Given the description of an element on the screen output the (x, y) to click on. 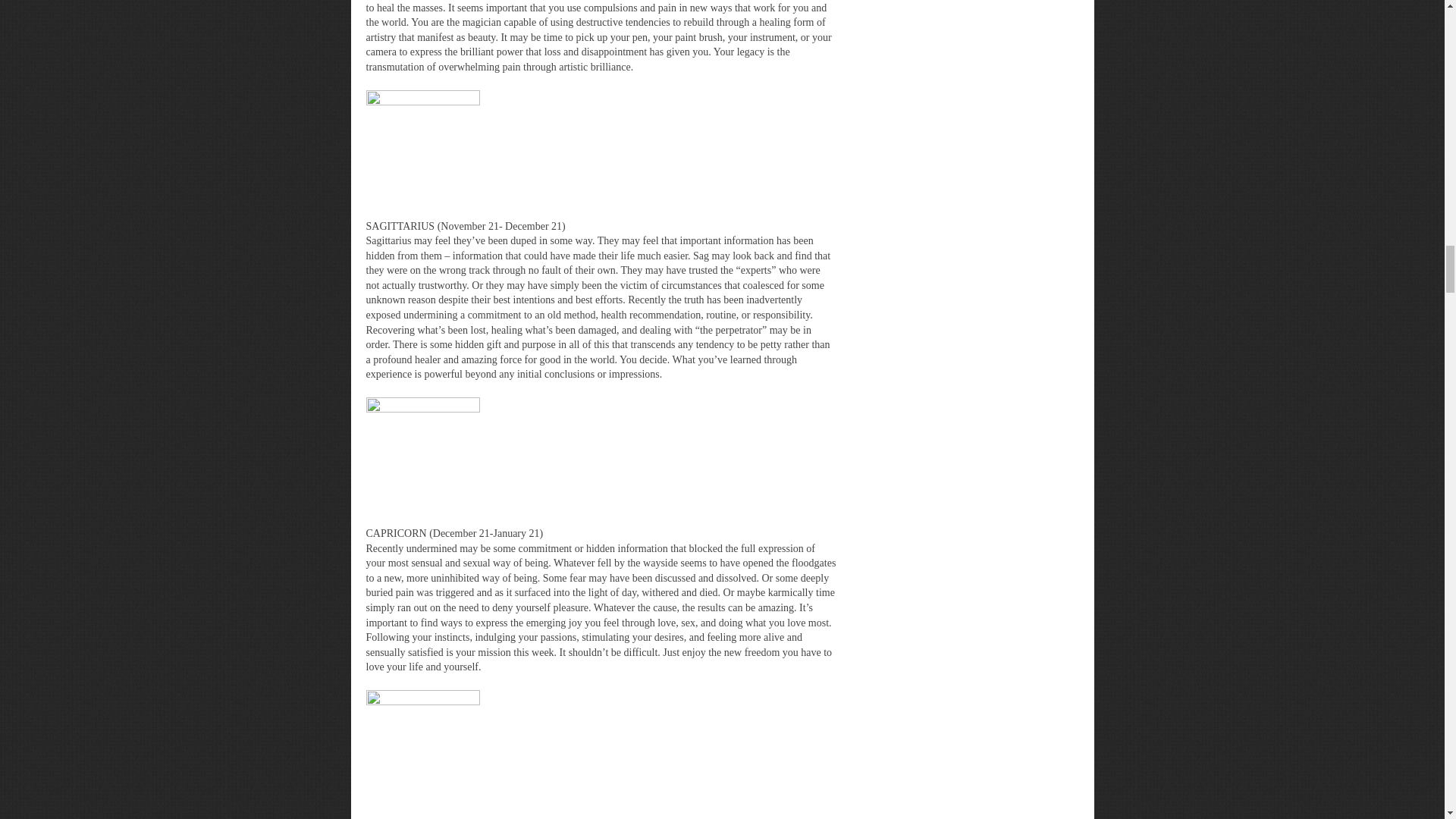
capricorn (422, 454)
sagittarius sign (422, 146)
aquarius1 (422, 746)
